Given the description of an element on the screen output the (x, y) to click on. 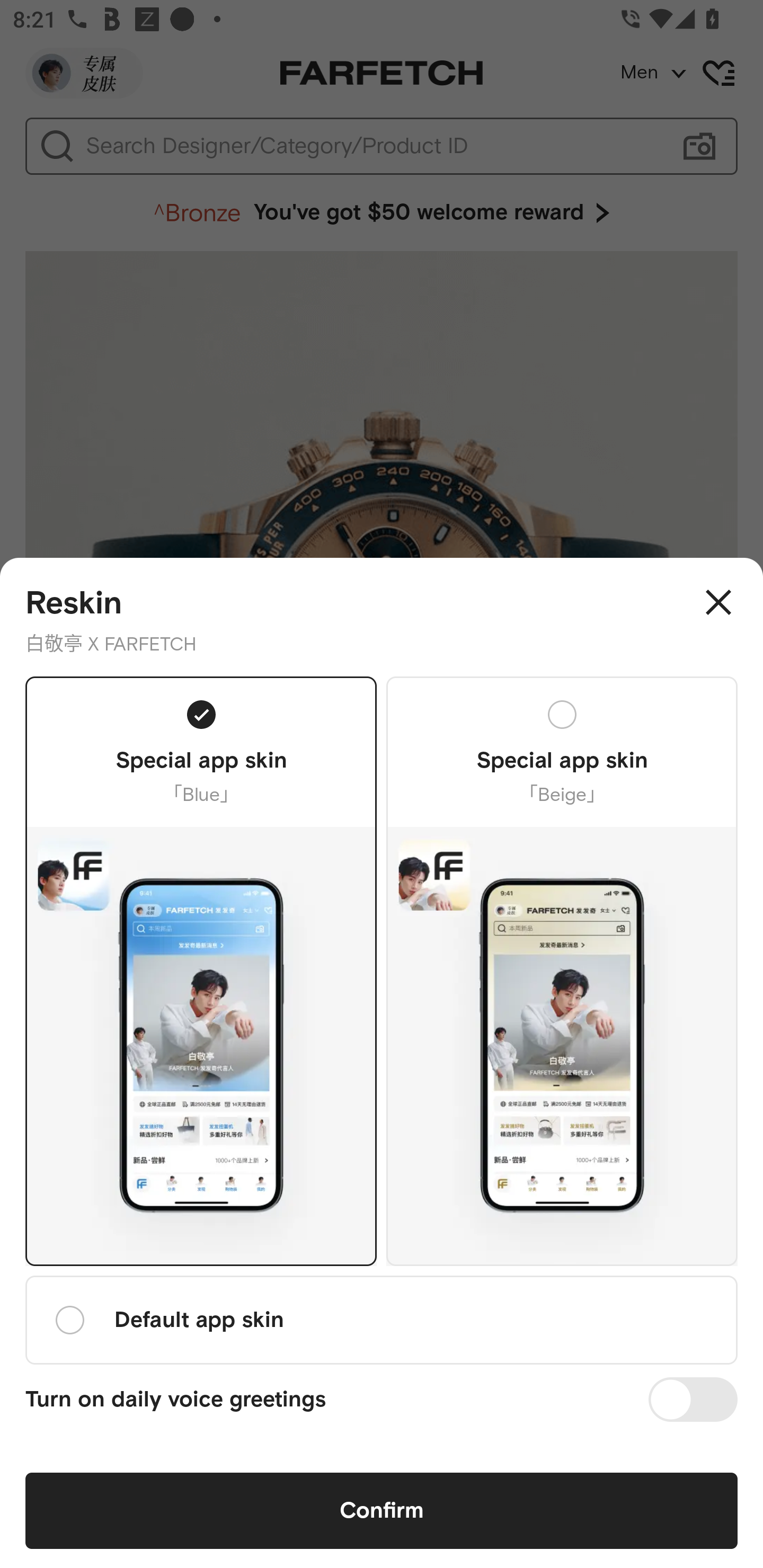
Special app skin 「Blue」 (200, 970)
Special app skin 「Beige」 (561, 970)
Default app skin (381, 1320)
Confirm (381, 1510)
